Given the description of an element on the screen output the (x, y) to click on. 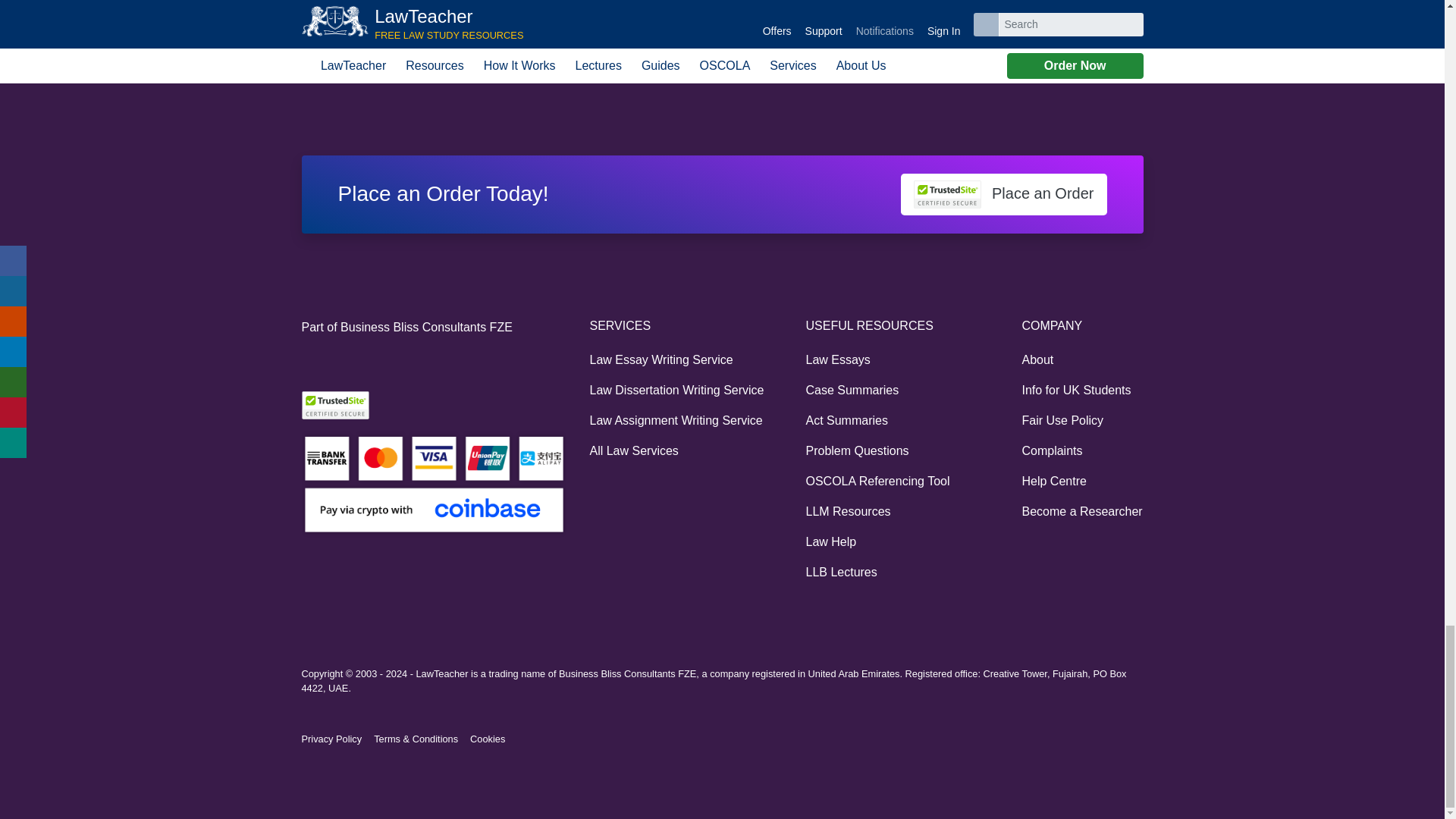
homepage link (309, 66)
